Given the description of an element on the screen output the (x, y) to click on. 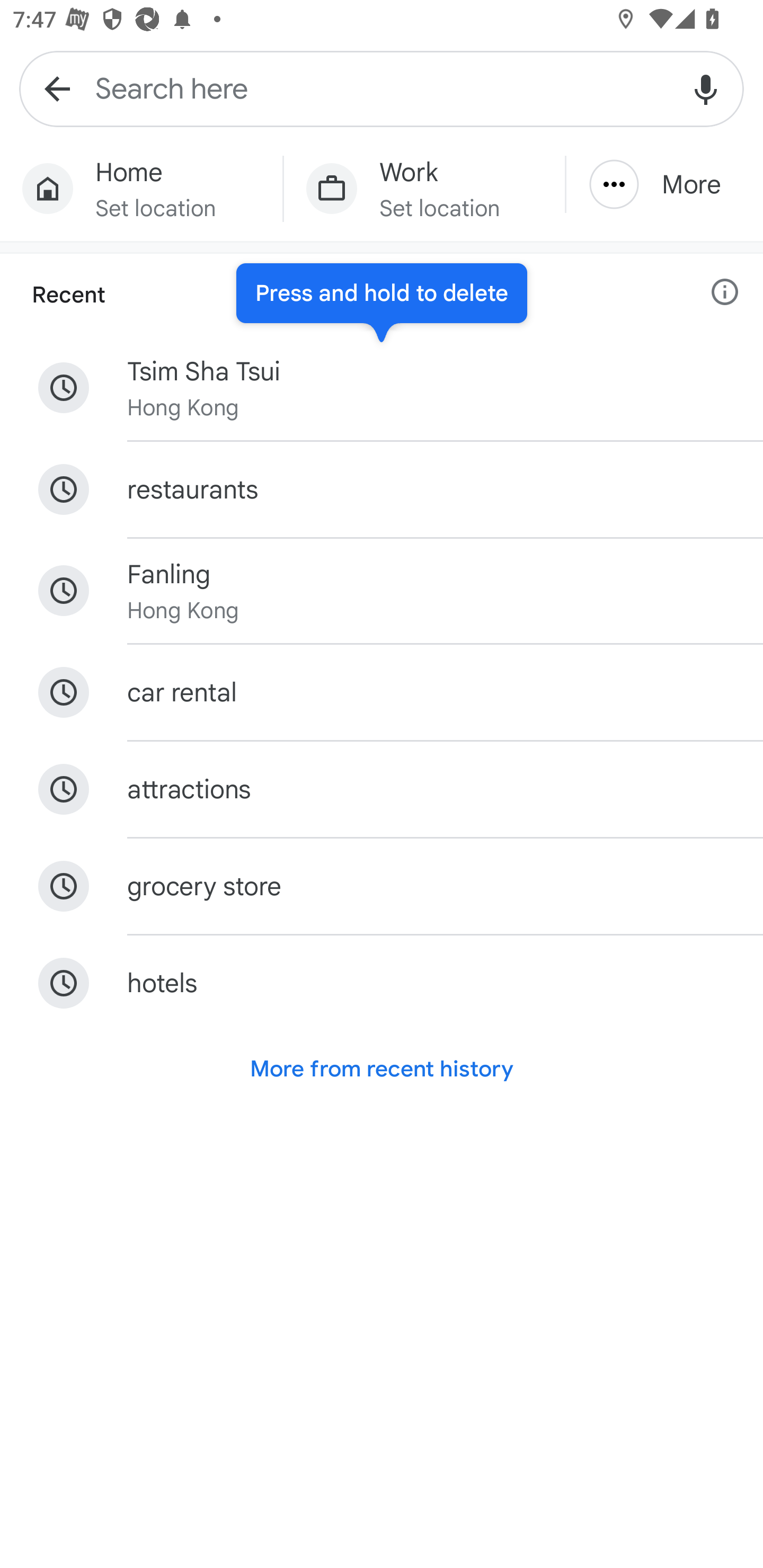
Navigate up (57, 88)
Search here (381, 88)
Voice search (705, 88)
Home Set location (141, 188)
Work Set location (423, 188)
More (664, 184)
Tsim Sha Tsui Hong Kong (381, 387)
restaurants (381, 489)
Fanling Hong Kong (381, 590)
car rental (381, 692)
attractions (381, 789)
grocery store (381, 886)
hotels (381, 983)
More from recent history (381, 1068)
